Given the description of an element on the screen output the (x, y) to click on. 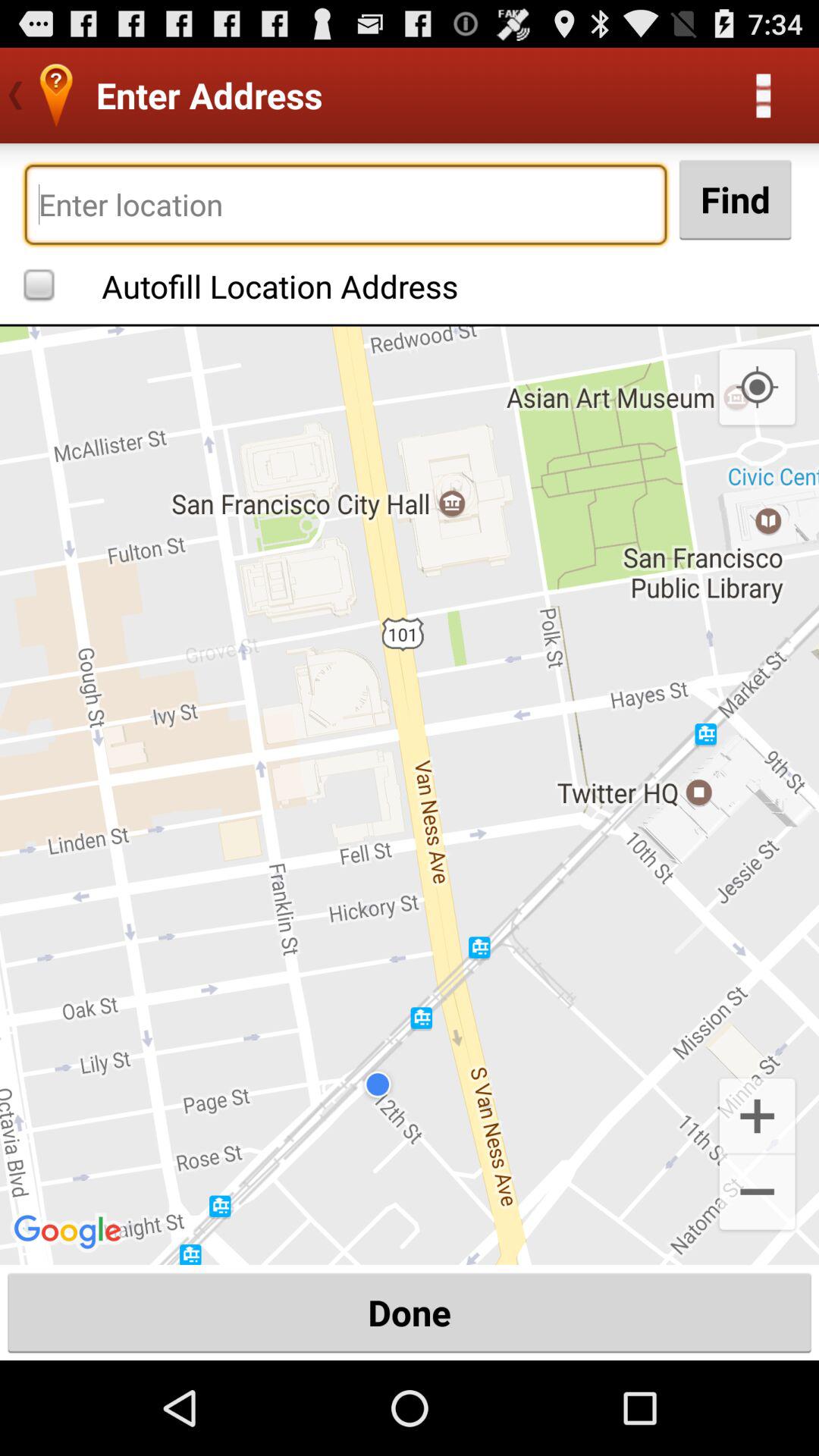
jump to find (735, 199)
